Given the description of an element on the screen output the (x, y) to click on. 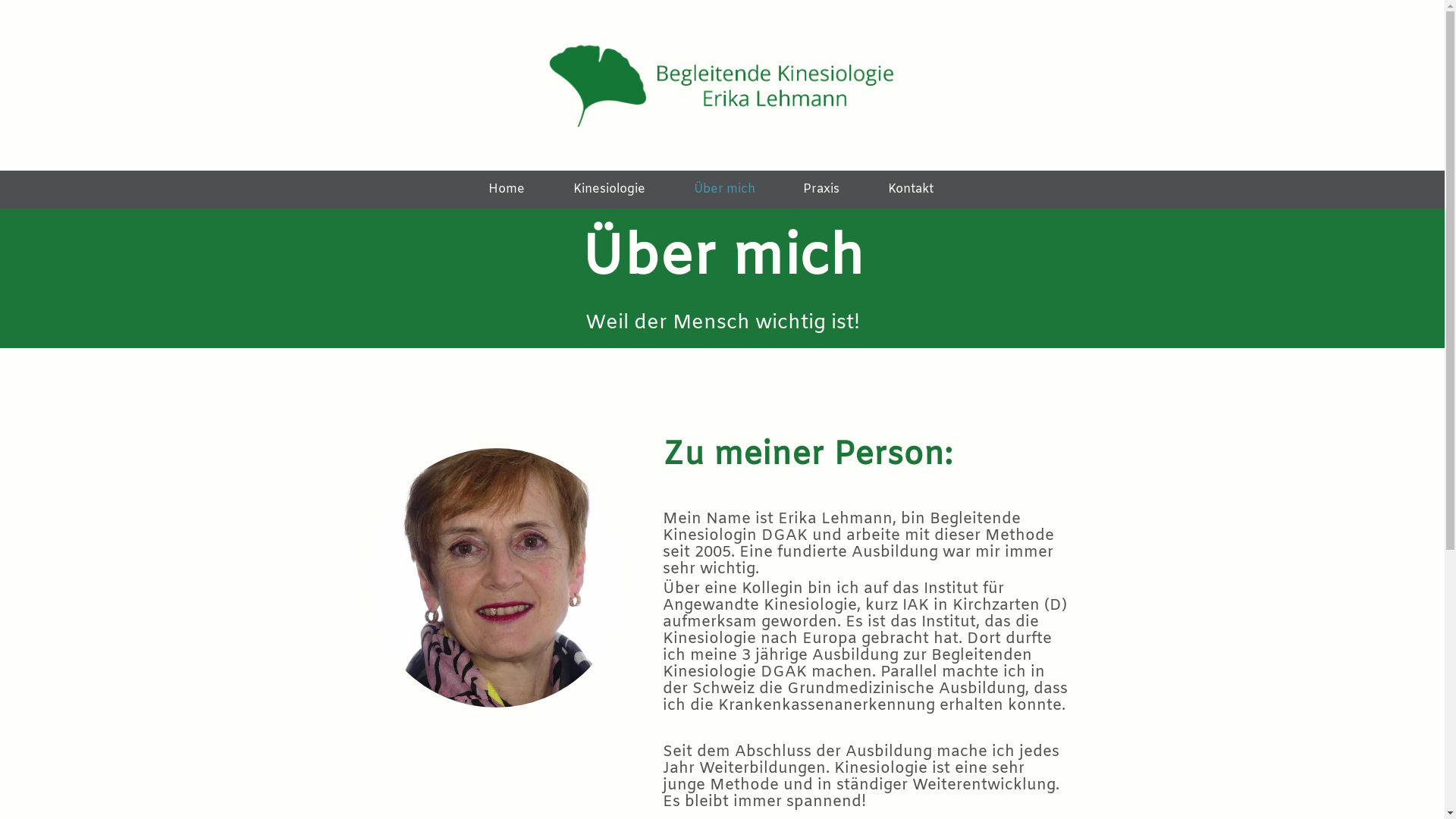
Home Element type: text (506, 191)
Kinesiologie Element type: text (609, 191)
Kontakt Element type: text (910, 191)
Praxis Element type: text (821, 191)
